Given the description of an element on the screen output the (x, y) to click on. 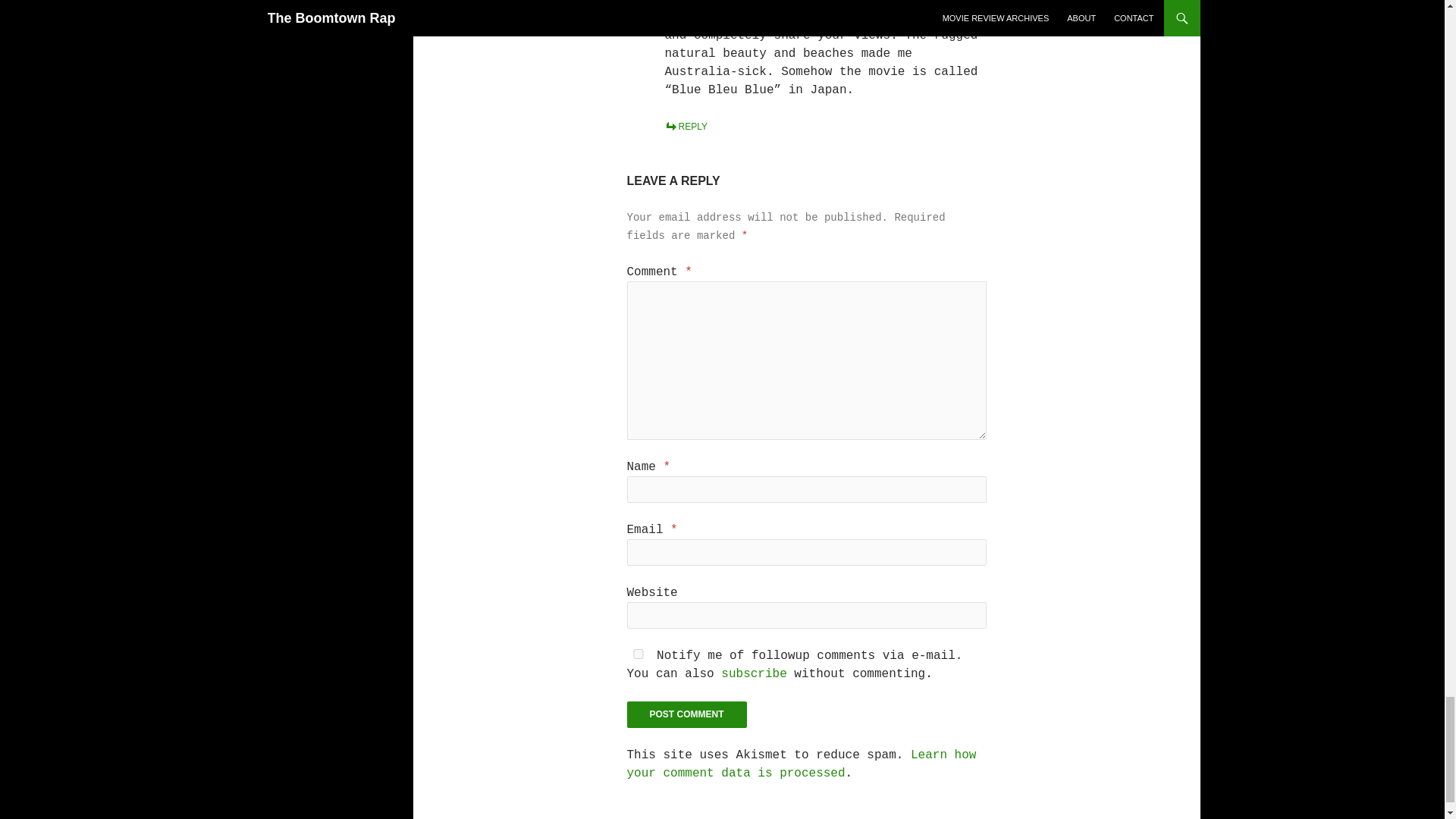
Post Comment (685, 714)
Post Comment (685, 714)
yes (637, 654)
REPLY (684, 126)
subscribe (753, 673)
